Given the description of an element on the screen output the (x, y) to click on. 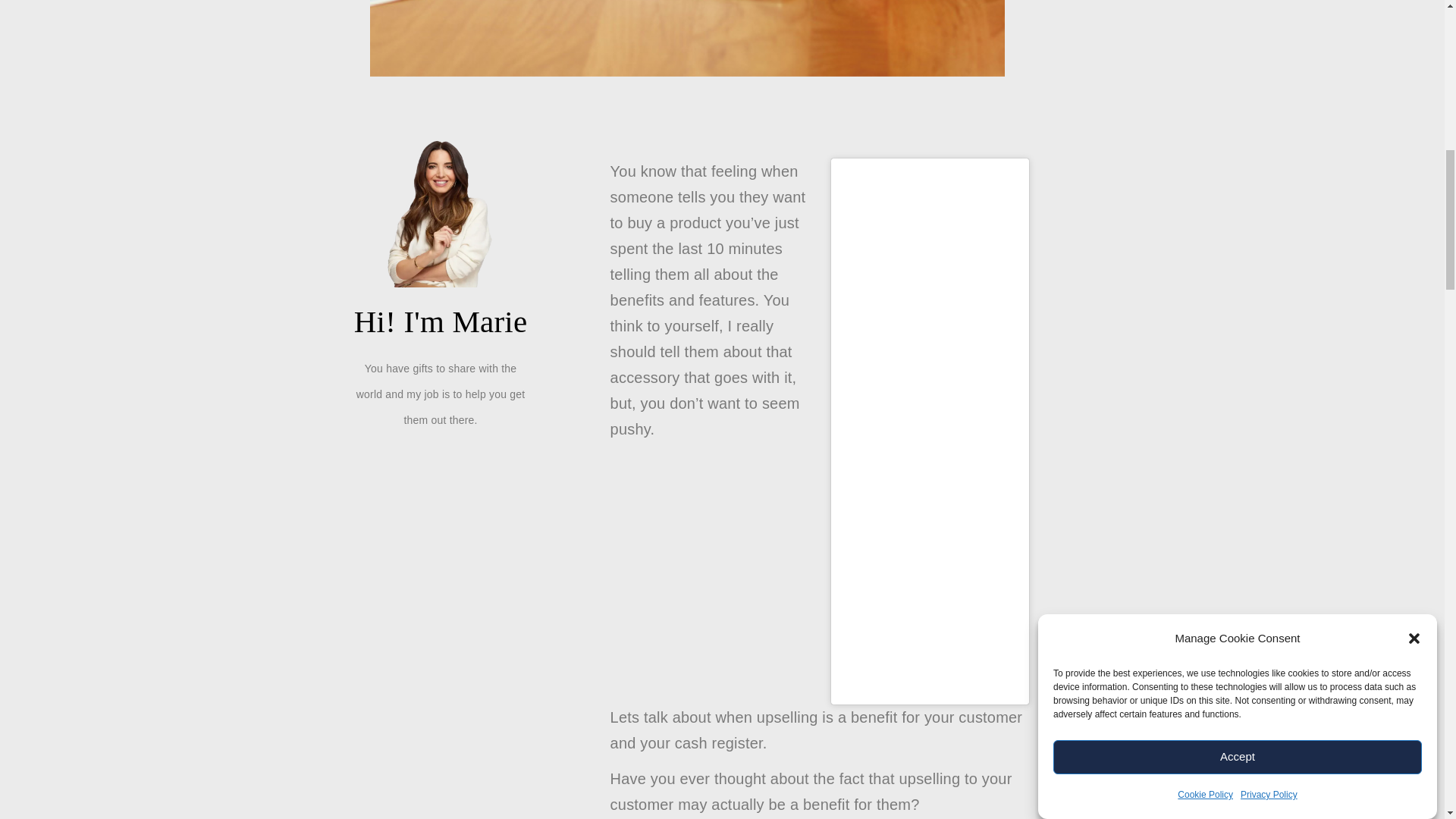
Privacy Policy (1268, 63)
Accept (1237, 226)
Cookie Policy (1205, 78)
